Given the description of an element on the screen output the (x, y) to click on. 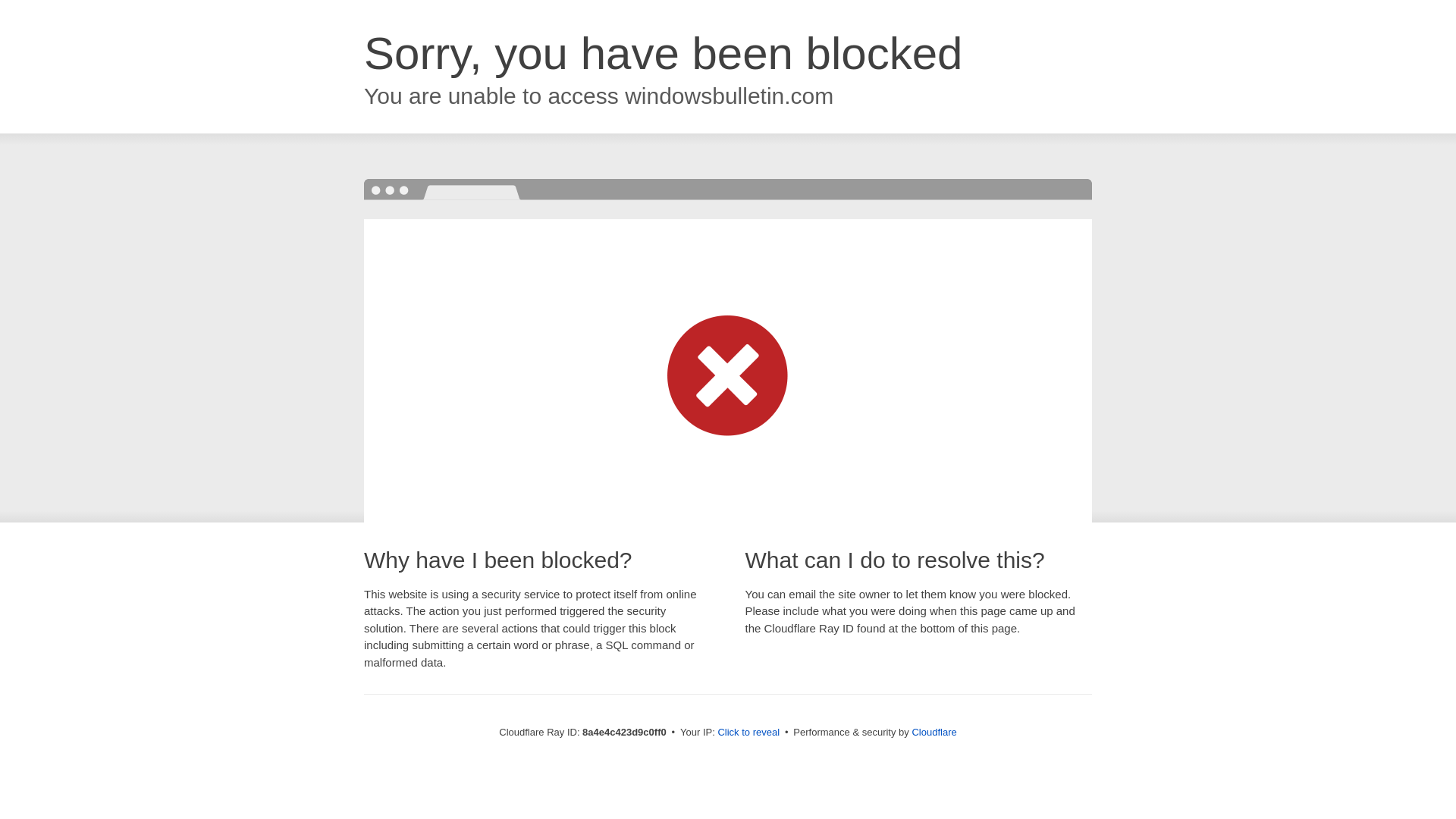
Cloudflare (933, 731)
Click to reveal (747, 732)
